Given the description of an element on the screen output the (x, y) to click on. 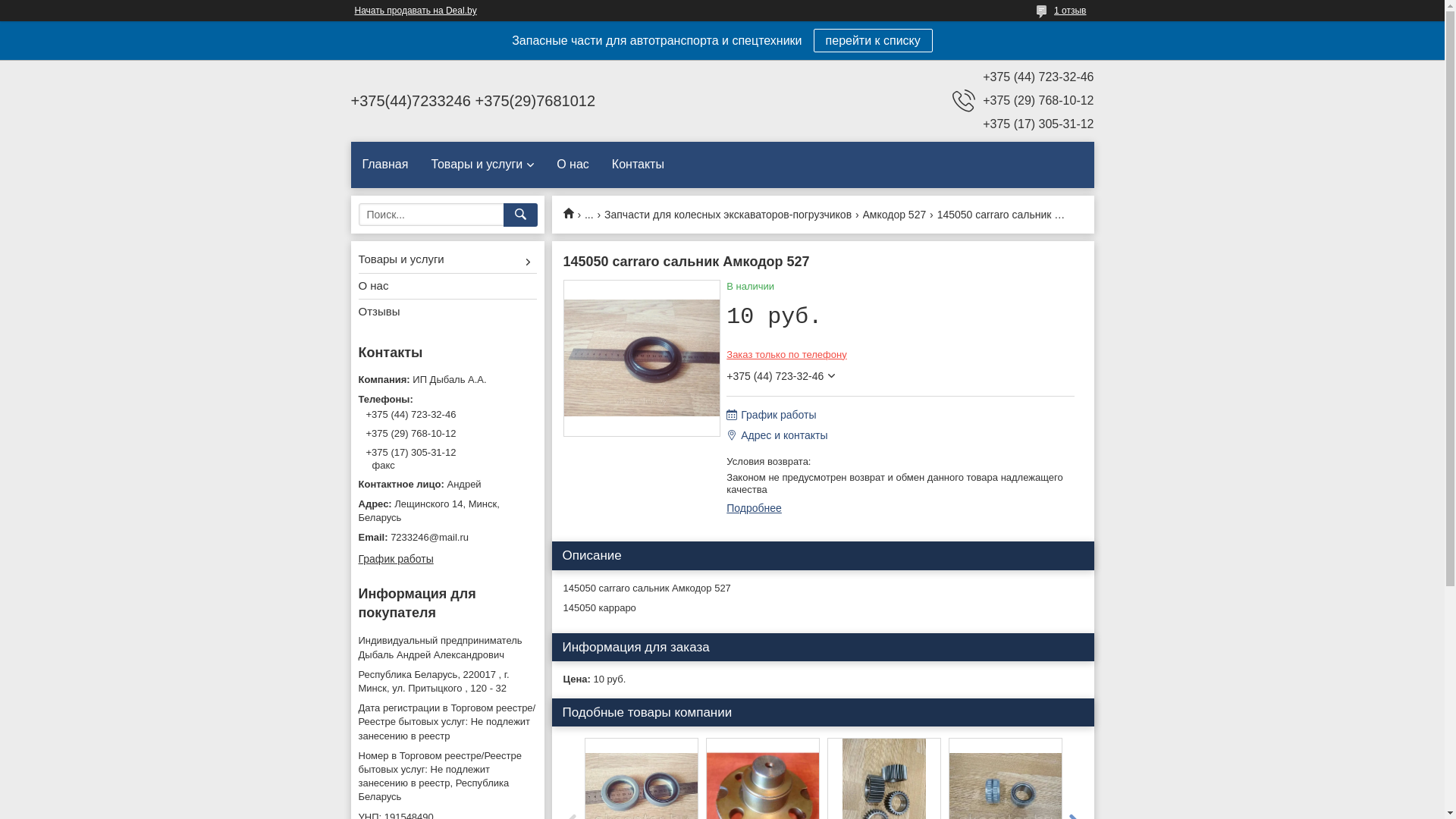
7233246@mail.ru Element type: text (446, 537)
